Given the description of an element on the screen output the (x, y) to click on. 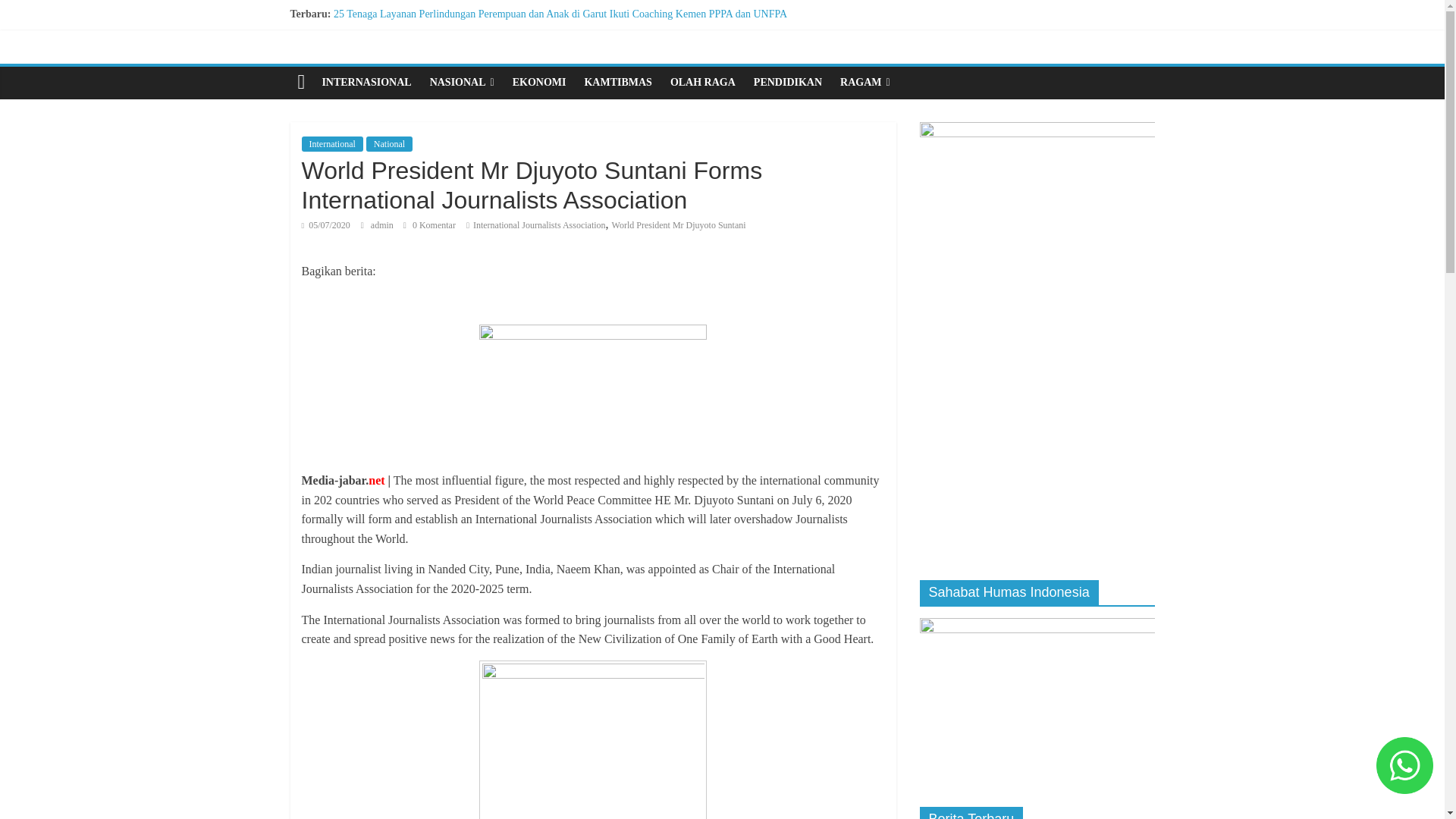
National (389, 143)
INTERNASIONAL (366, 82)
15:06 (325, 225)
admin (383, 225)
KAMTIBMAS (618, 82)
NASIONAL (461, 82)
OLAH RAGA (702, 82)
admin (383, 225)
RAGAM (865, 82)
EKONOMI (539, 82)
